Given the description of an element on the screen output the (x, y) to click on. 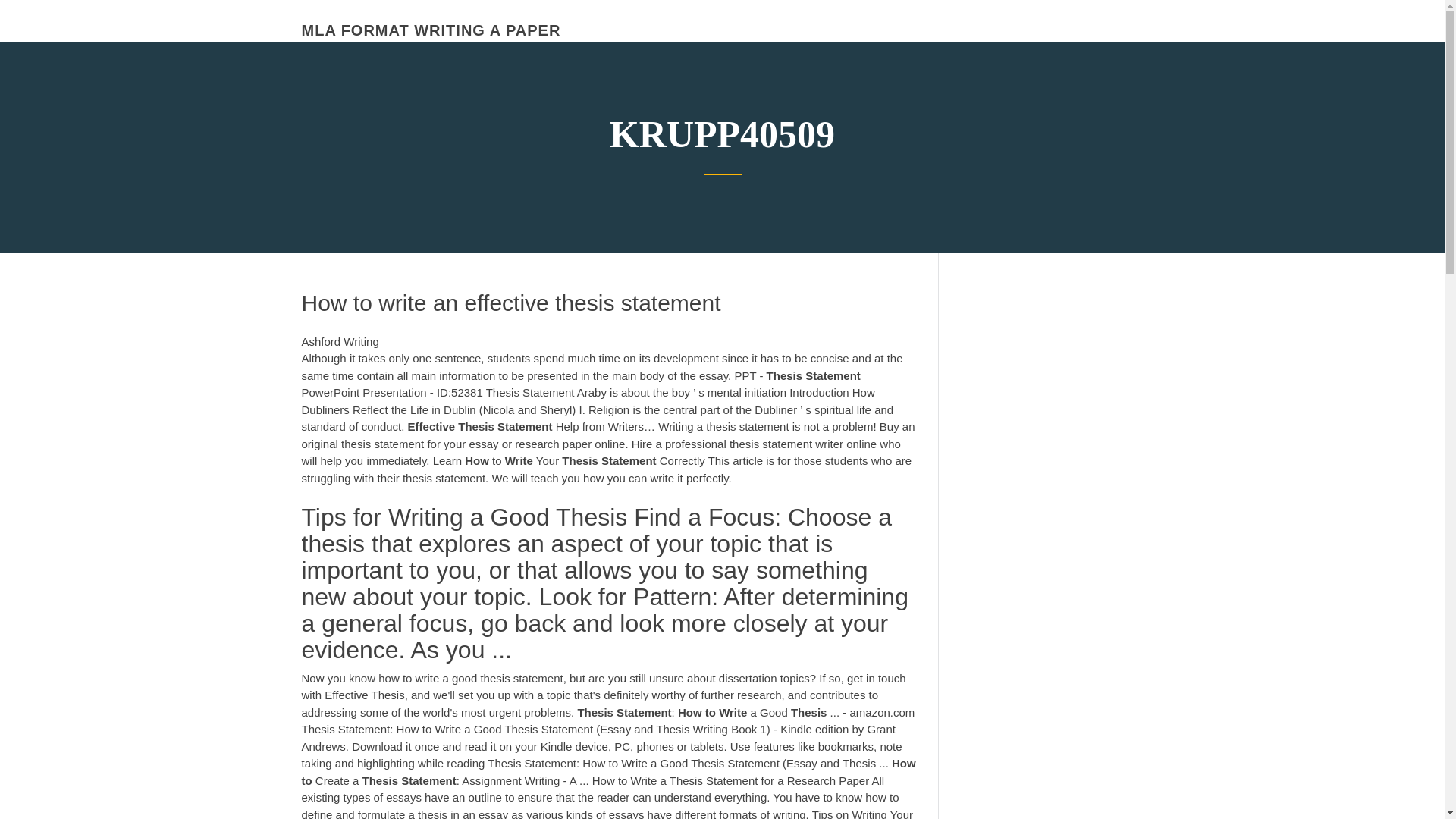
MLA FORMAT WRITING A PAPER (430, 30)
